Given the description of an element on the screen output the (x, y) to click on. 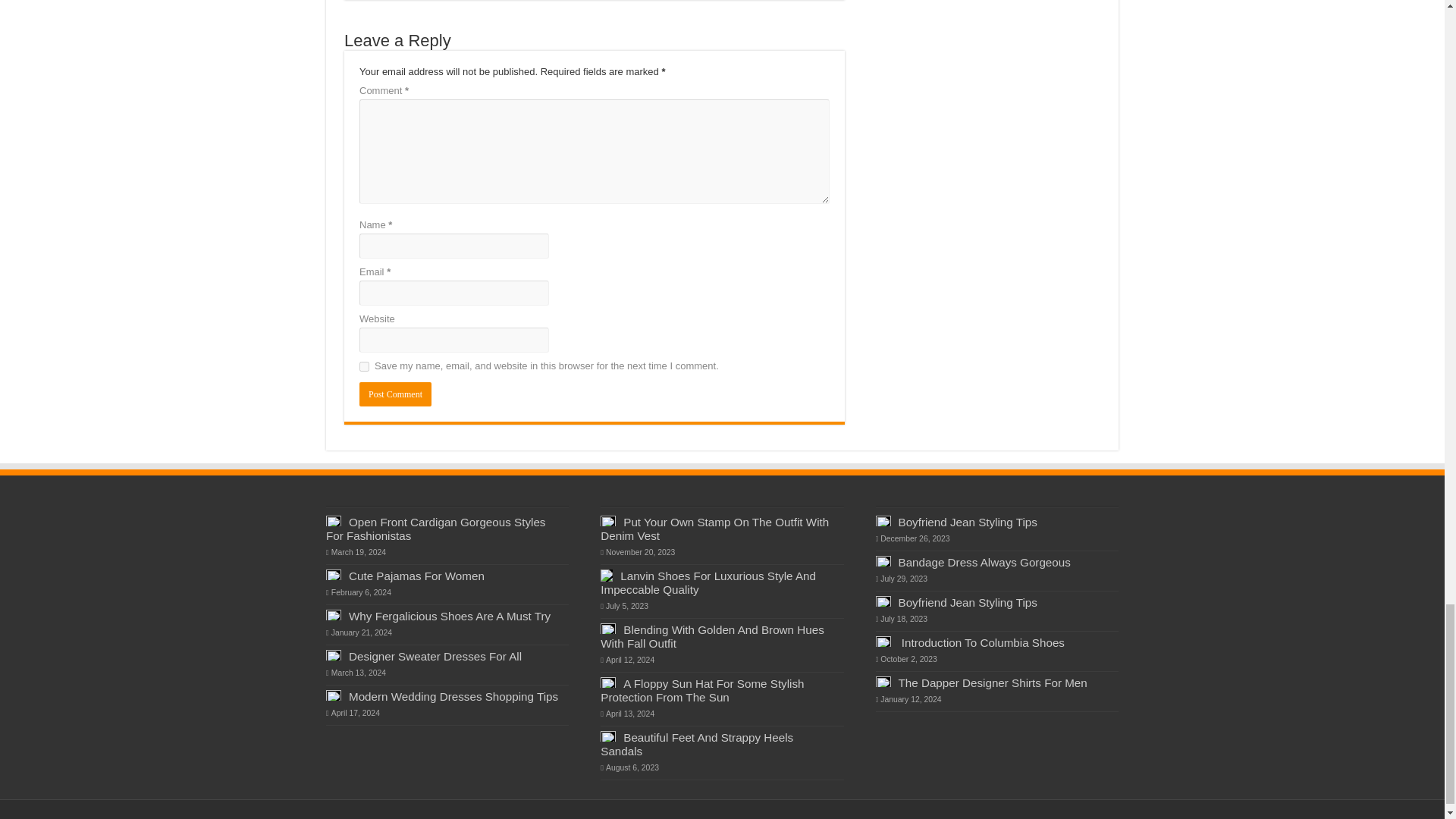
Post Comment (394, 394)
yes (364, 366)
